Given the description of an element on the screen output the (x, y) to click on. 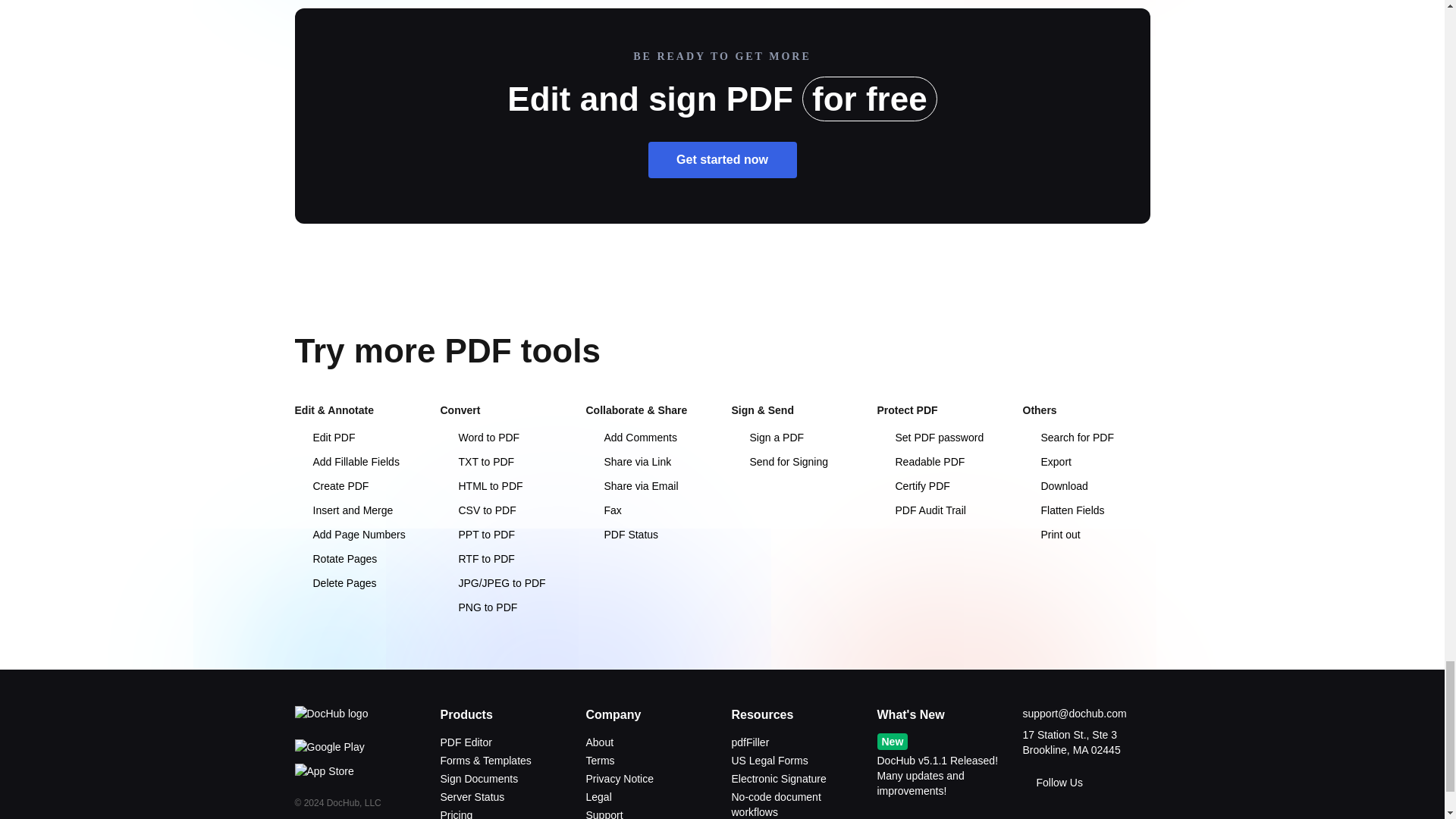
Get started now (721, 159)
Share via Link (628, 461)
Word to PDF (479, 437)
Create PDF (331, 485)
TXT to PDF (476, 461)
Add Page Numbers (349, 534)
Delete Pages (334, 582)
RTF to PDF (476, 558)
Fax (603, 510)
PNG to PDF (477, 607)
HTML to PDF (480, 485)
Share via Email (631, 485)
Rotate Pages (335, 558)
Insert and Merge (343, 510)
PDF Status (621, 534)
